Given the description of an element on the screen output the (x, y) to click on. 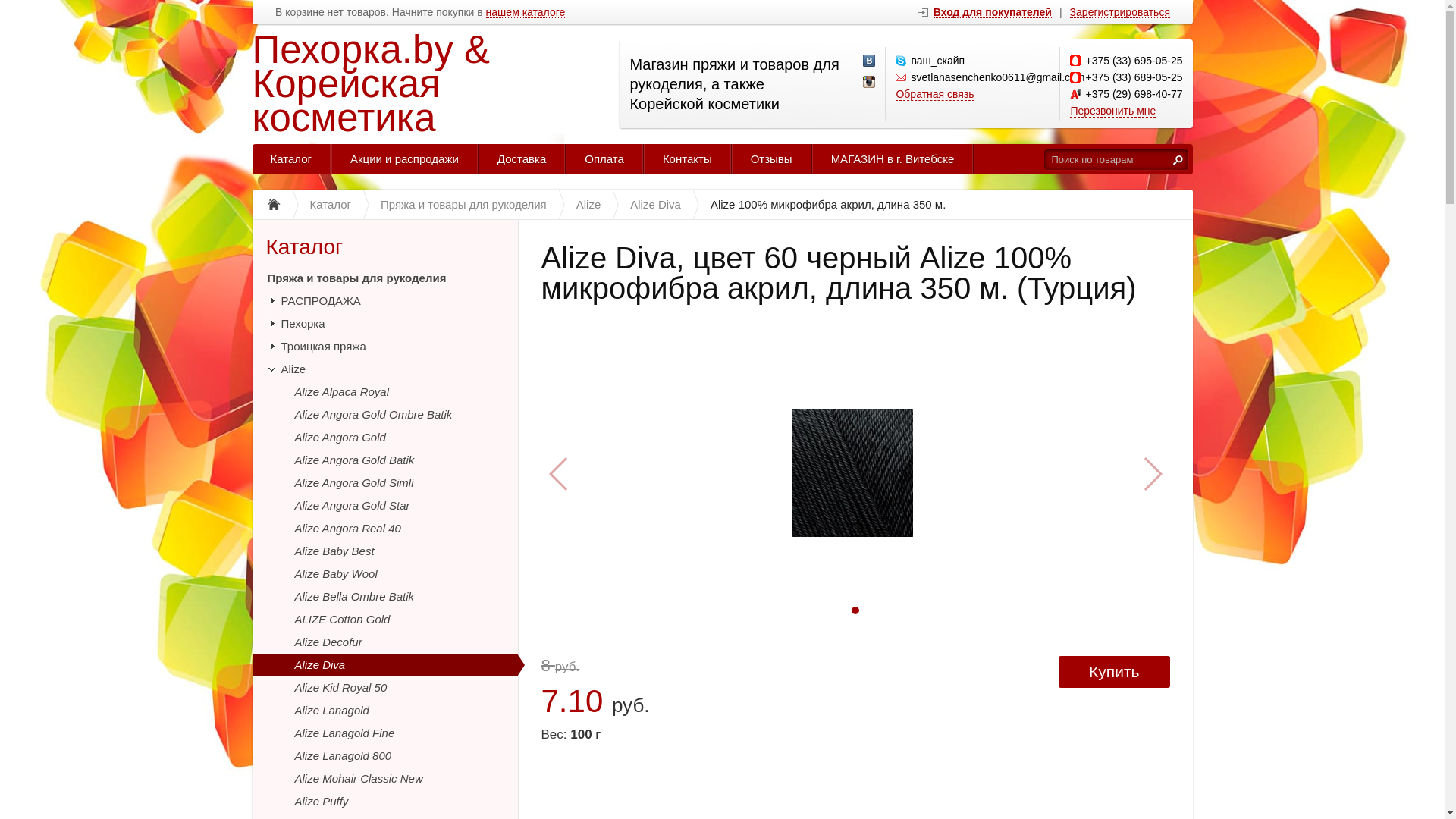
Alize Lanagold Fine Element type: text (384, 732)
Alize Decofur Element type: text (384, 641)
Alize Lanagold Element type: text (384, 710)
Alize Element type: text (384, 368)
Alize Bella Ombre Batik Element type: text (384, 596)
Alize Element type: text (588, 204)
Alize Kid Royal 50 Element type: text (384, 687)
Alize Diva Element type: text (655, 204)
ALIZE Cotton Gold Element type: text (384, 619)
Alize Puffy Element type: text (384, 801)
Alize Baby Best Element type: text (384, 550)
Alize Angora Gold Simli Element type: text (384, 482)
Alize Angora Real 40 Element type: text (384, 528)
Alize Lanagold 800 Element type: text (384, 755)
Alize Alpaca Royal Element type: text (384, 391)
Alize Angora Gold Element type: text (384, 437)
Alize Angora Gold Batik Element type: text (384, 459)
Alize Baby Wool Element type: text (384, 573)
  Element type: text (1177, 159)
Alize Angora Gold Star Element type: text (384, 505)
Alize Diva Element type: text (384, 664)
Alize Angora Gold Ombre Batik Element type: text (384, 414)
Alize Mohair Classic New Element type: text (384, 778)
